Given the description of an element on the screen output the (x, y) to click on. 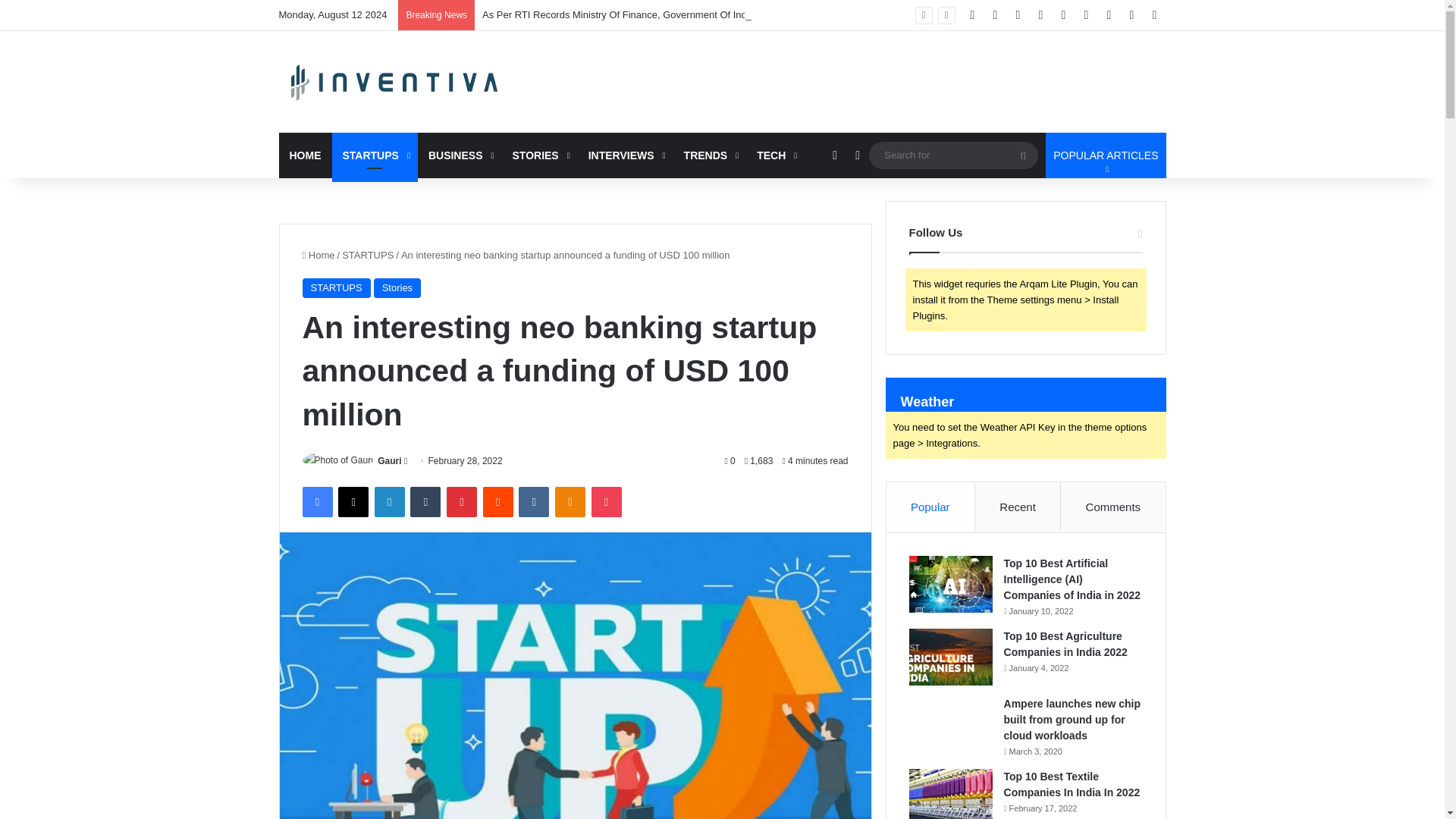
INTERVIEWS (625, 155)
BUSINESS (459, 155)
Inventiva (395, 81)
Pinterest (461, 501)
Search for (953, 154)
Gauri (389, 460)
Reddit (498, 501)
VKontakte (533, 501)
Odnoklassniki (569, 501)
TRENDS (709, 155)
